Given the description of an element on the screen output the (x, y) to click on. 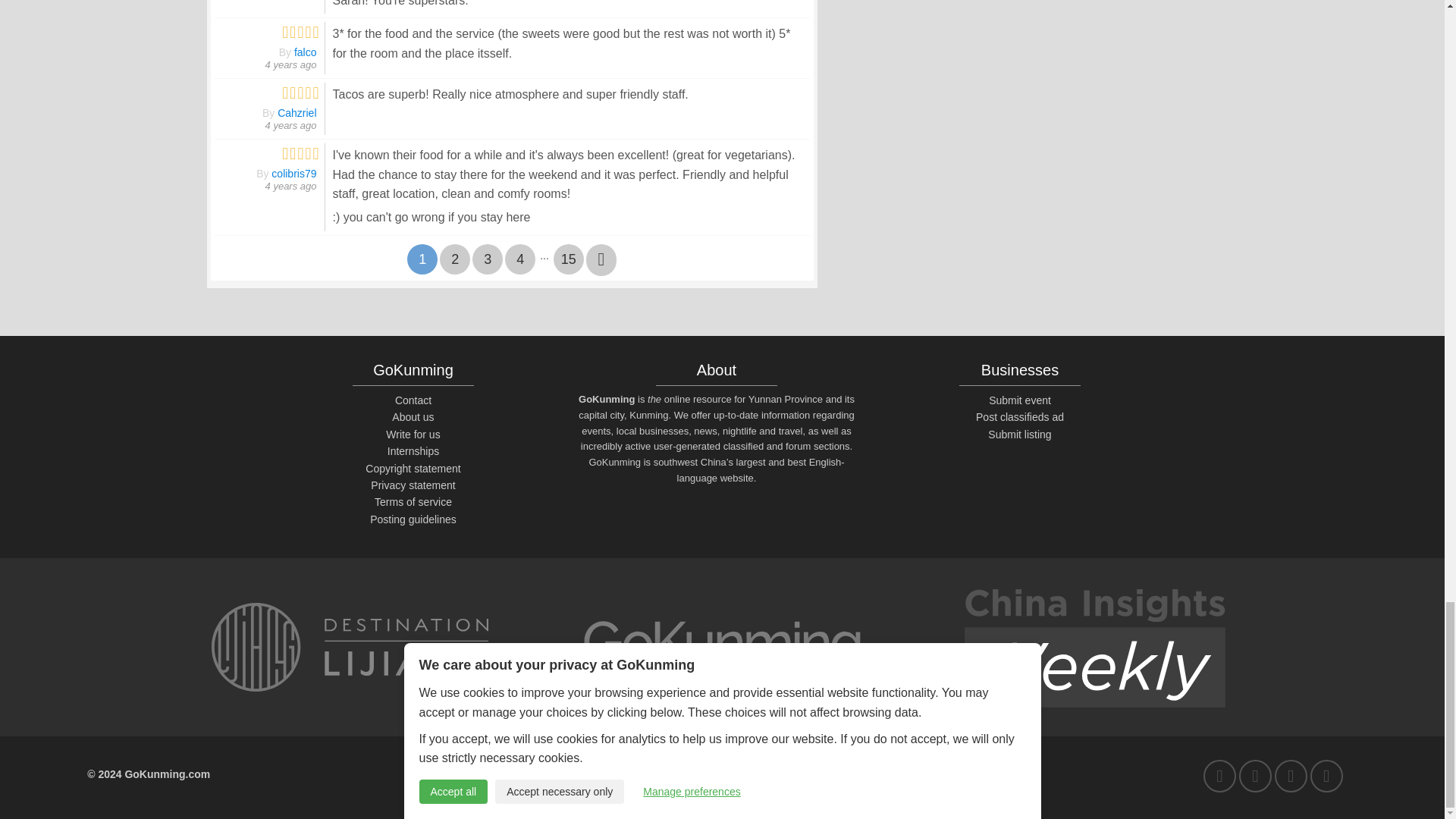
June 30, 2020, 12:12am (290, 64)
June 16, 2020, 6:06pm (290, 185)
June 23, 2020, 1:40pm (290, 125)
